Given the description of an element on the screen output the (x, y) to click on. 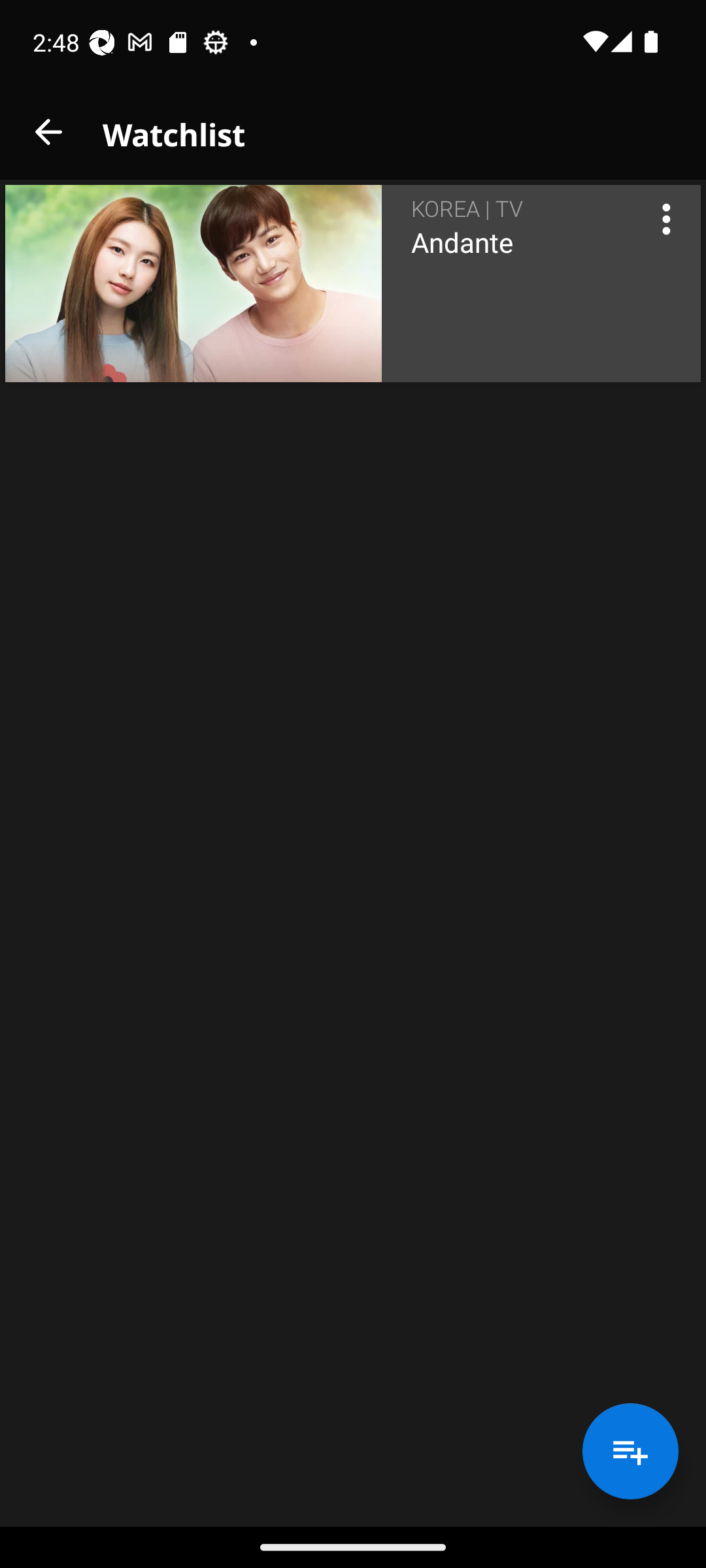
close_button (48, 131)
resource_cell KOREA | TV Andante (353, 283)
